Given the description of an element on the screen output the (x, y) to click on. 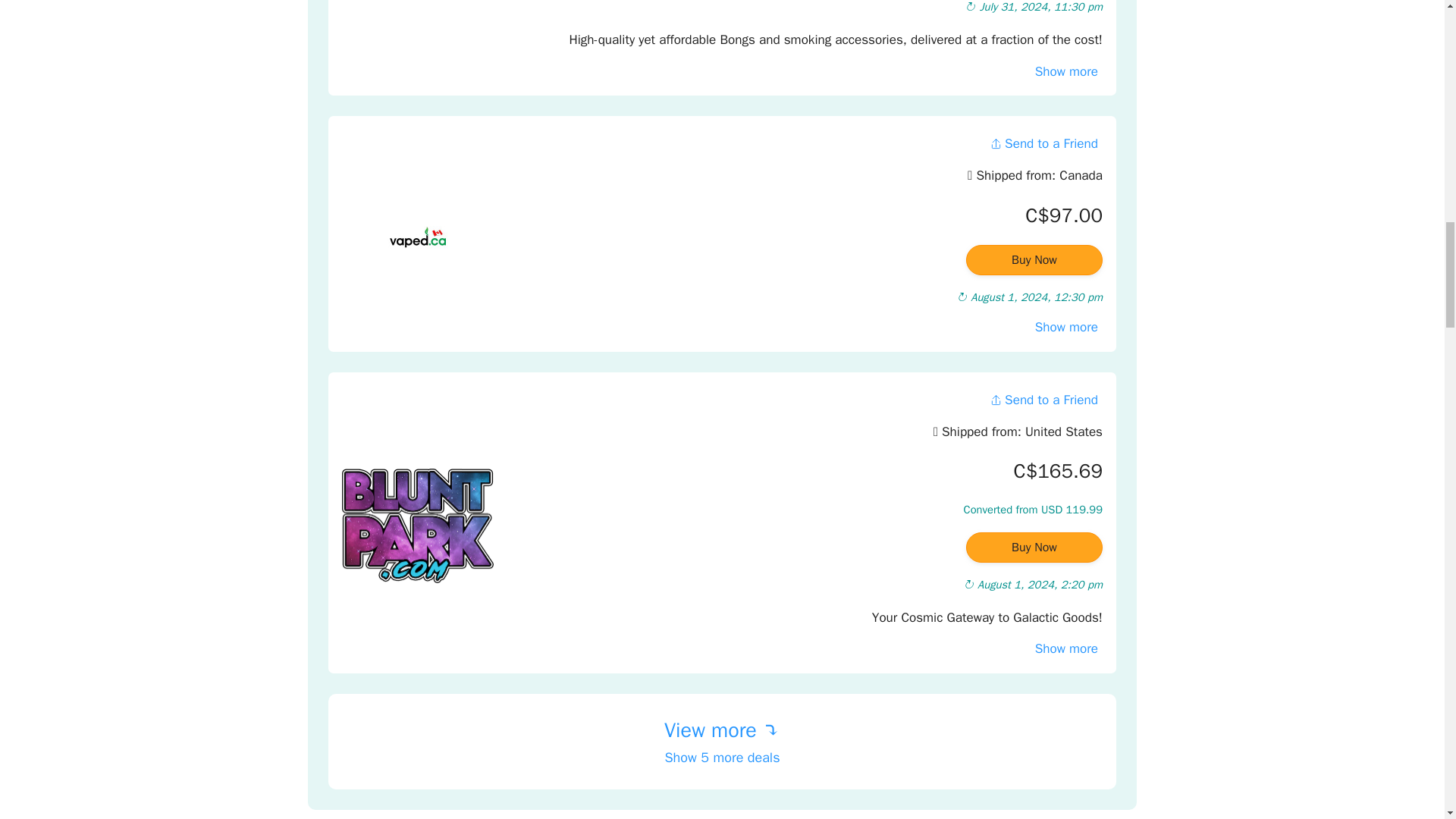
Buy Now (1034, 547)
Vaped.ca (417, 237)
Show more (1066, 326)
Show more (1066, 648)
Blunt Park (417, 525)
Show more (1066, 71)
Send to a Friend (1043, 143)
Buy Now (1034, 259)
Send to a Friend (1043, 399)
